Given the description of an element on the screen output the (x, y) to click on. 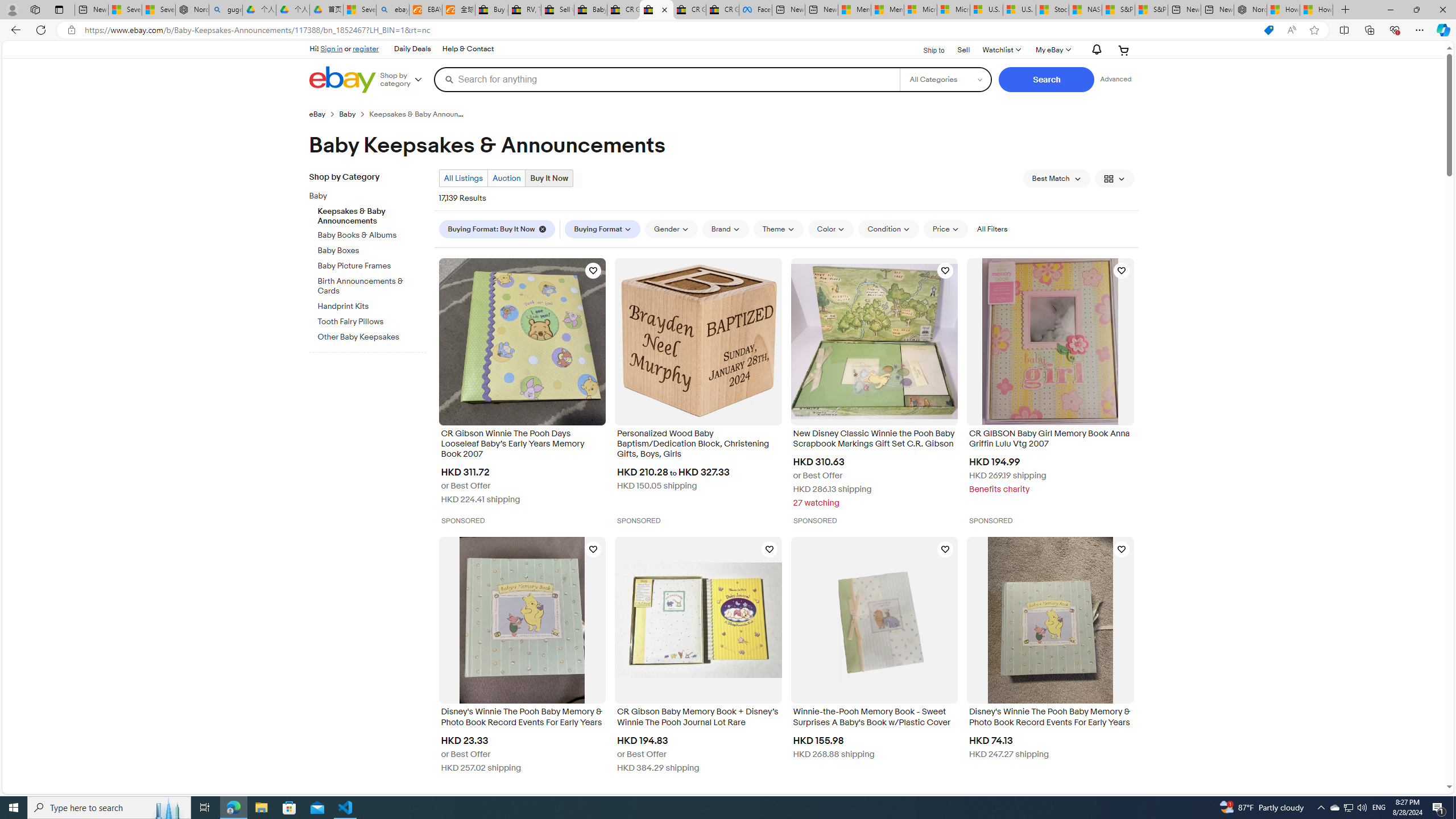
Watchlist (1000, 49)
Baby Books & Albums (371, 233)
Help & Contact (467, 49)
eBay (323, 113)
Daily Deals (411, 49)
Ship to (926, 49)
